Given the description of an element on the screen output the (x, y) to click on. 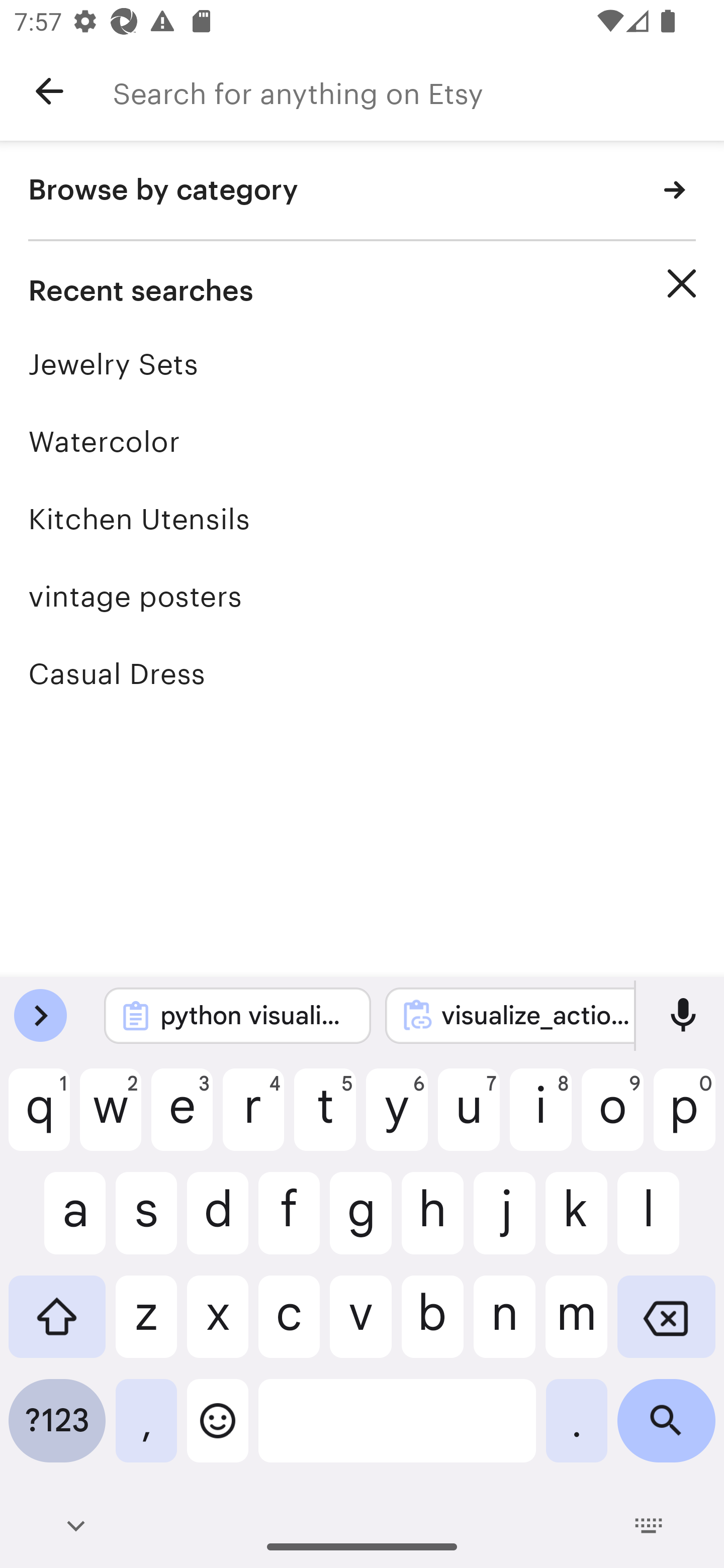
Navigate up (49, 91)
Search for anything on Etsy (418, 91)
Browse by category (362, 191)
Clear (681, 283)
Jewelry Sets (362, 364)
Watercolor (362, 440)
Kitchen Utensils (362, 518)
vintage posters (362, 596)
Casual Dress (362, 673)
